Given the description of an element on the screen output the (x, y) to click on. 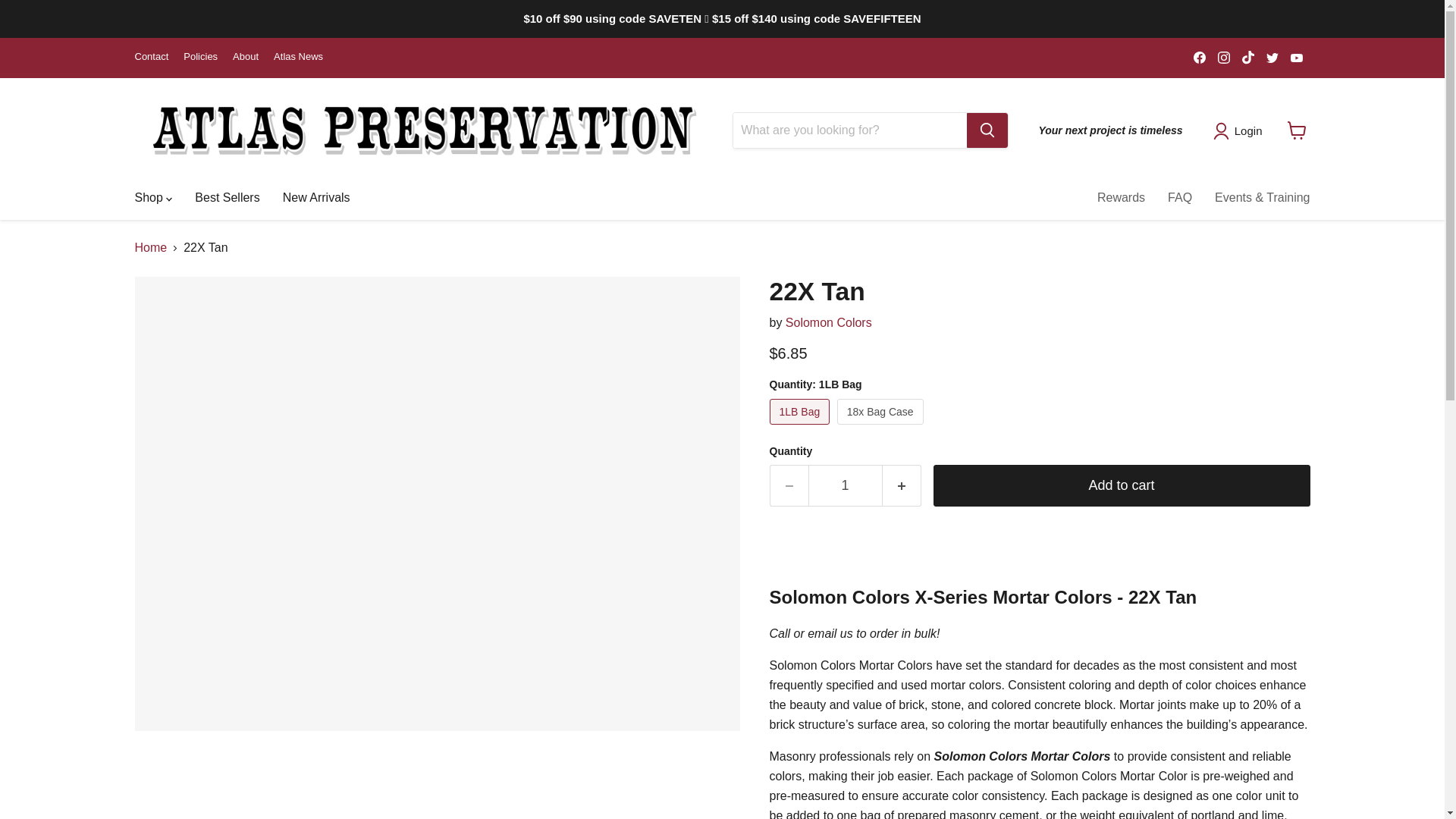
Find us on Twitter (1272, 56)
Twitter (1272, 56)
TikTok (1248, 56)
View cart (1296, 130)
Atlas News (298, 57)
Policies (199, 57)
Facebook (1199, 56)
YouTube (1296, 56)
Contact (151, 57)
Login (1240, 130)
Solomon Colors (829, 322)
Your next project is timeless (1110, 130)
Find us on Instagram (1223, 56)
Find us on YouTube (1296, 56)
Find us on Facebook (1199, 56)
